Given the description of an element on the screen output the (x, y) to click on. 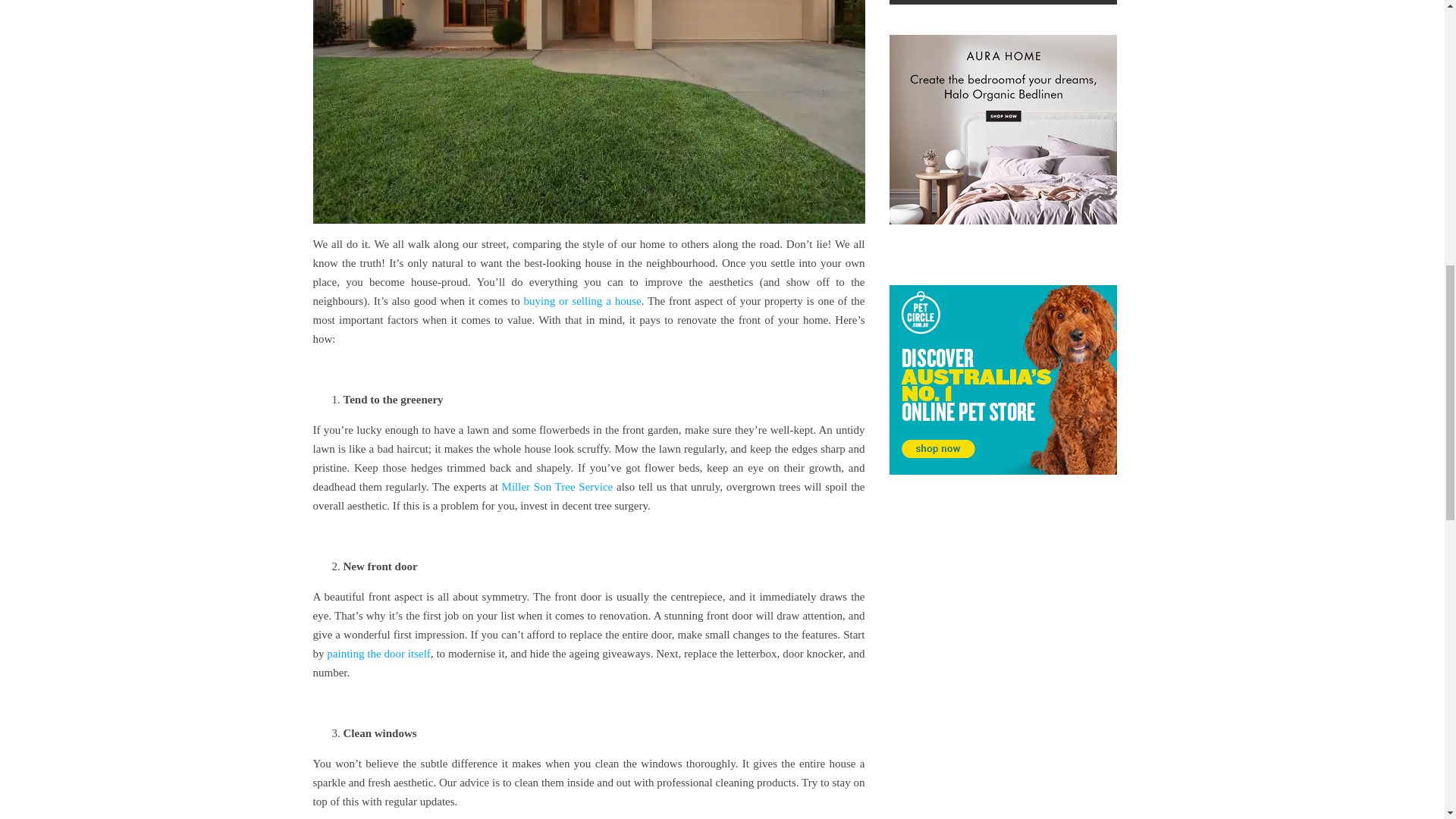
buying or selling a house (583, 300)
painting the door itself (378, 653)
Miller Son Tree Service (557, 486)
